Given the description of an element on the screen output the (x, y) to click on. 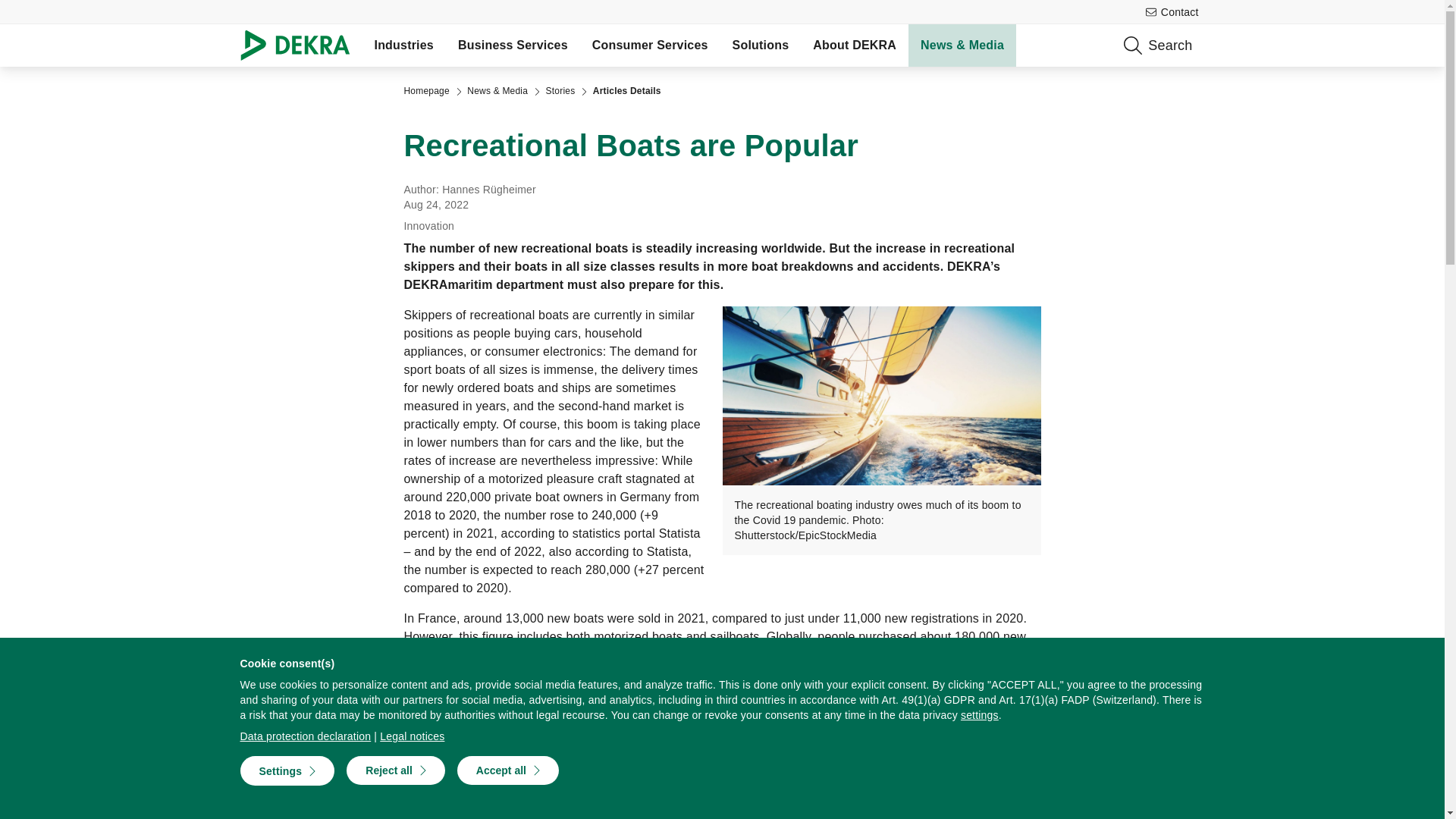
Stories (560, 91)
Homepage (425, 91)
settings (979, 714)
Legal notices (412, 735)
Settings (287, 770)
Search (1243, 45)
Logo (300, 45)
Data protection declaration (305, 735)
Reject all (395, 769)
Accept all (508, 769)
